Given the description of an element on the screen output the (x, y) to click on. 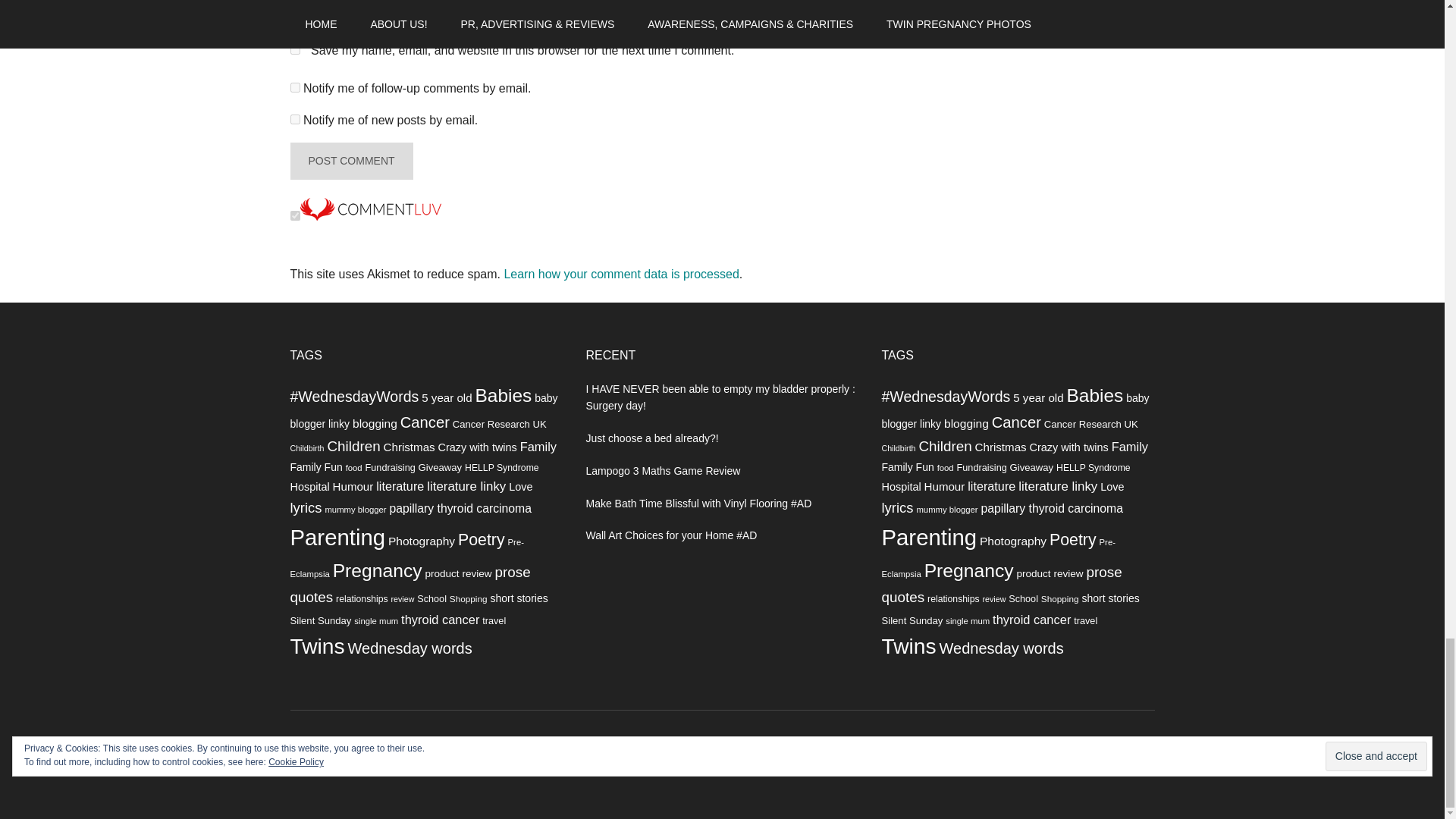
subscribe (294, 87)
on (294, 215)
yes (294, 49)
Post Comment (350, 160)
subscribe (294, 119)
Learn how your comment data is processed (620, 273)
Post Comment (350, 160)
